Given the description of an element on the screen output the (x, y) to click on. 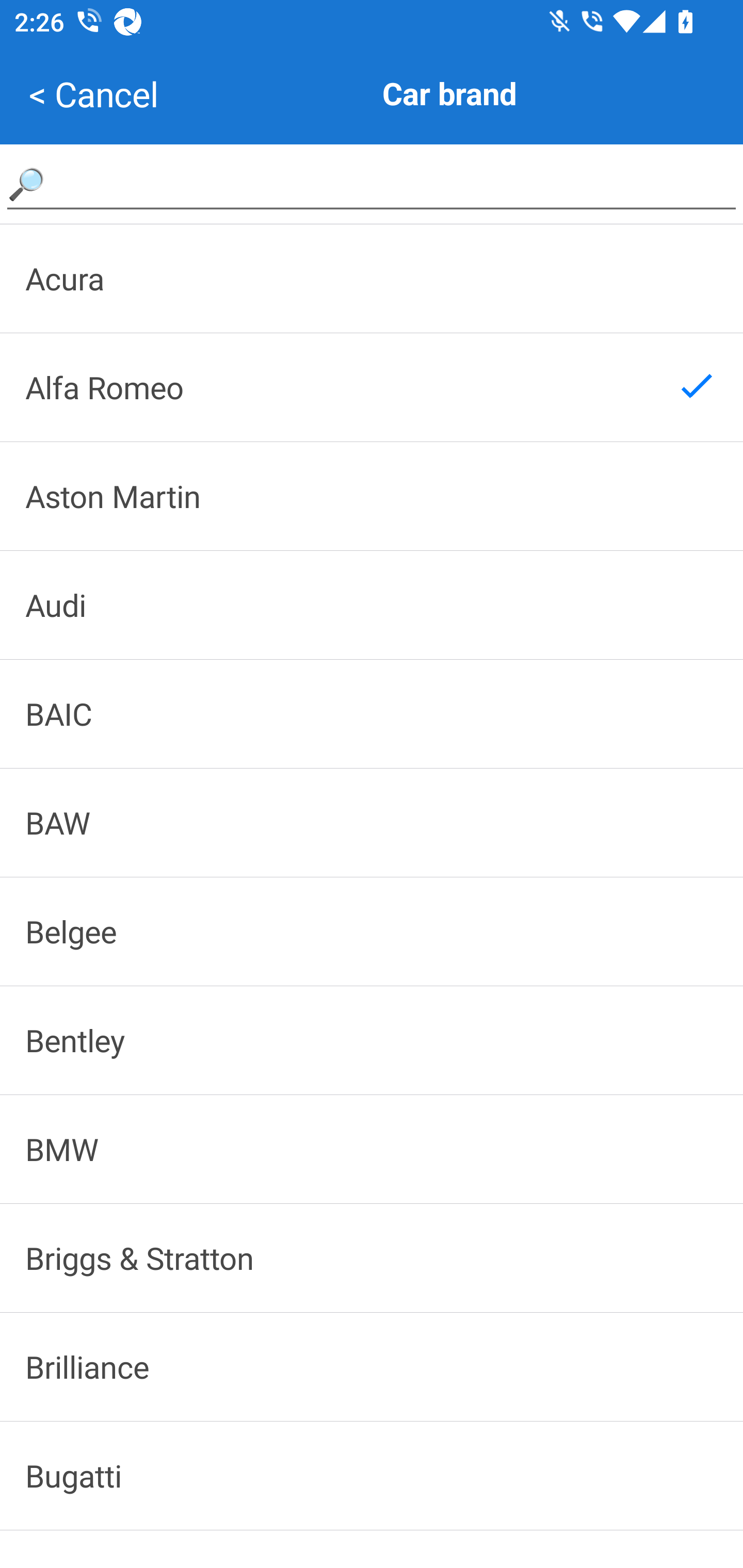
< Cancel (93, 93)
🔎 (371, 183)
Acura (371, 278)
Alfa Romeo (371, 387)
Aston Martin (371, 496)
Audi (371, 604)
BAIC (371, 714)
BAW (371, 822)
Belgee (371, 932)
Bentley (371, 1040)
BMW (371, 1148)
Briggs & Stratton (371, 1258)
Brilliance (371, 1366)
Bugatti (371, 1476)
